Given the description of an element on the screen output the (x, y) to click on. 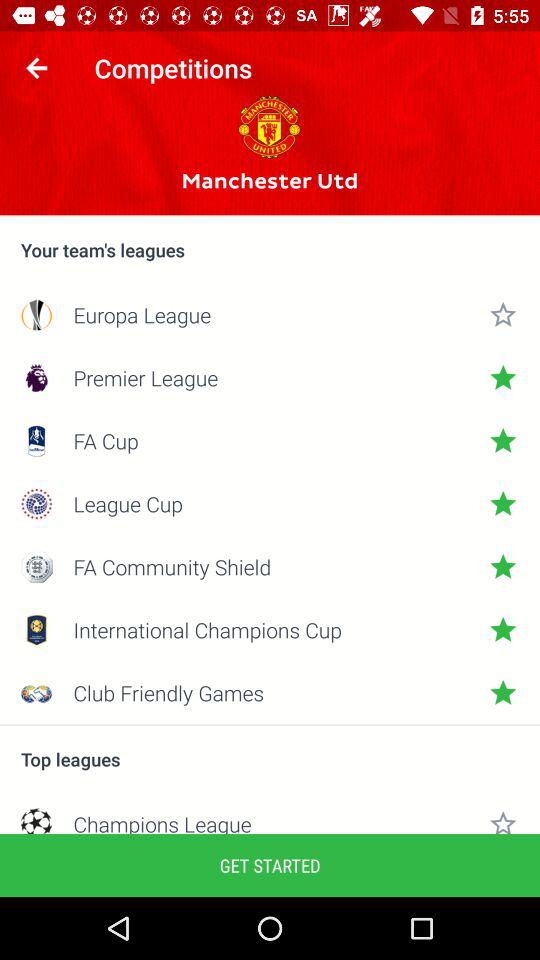
click item above the get started item (269, 821)
